Given the description of an element on the screen output the (x, y) to click on. 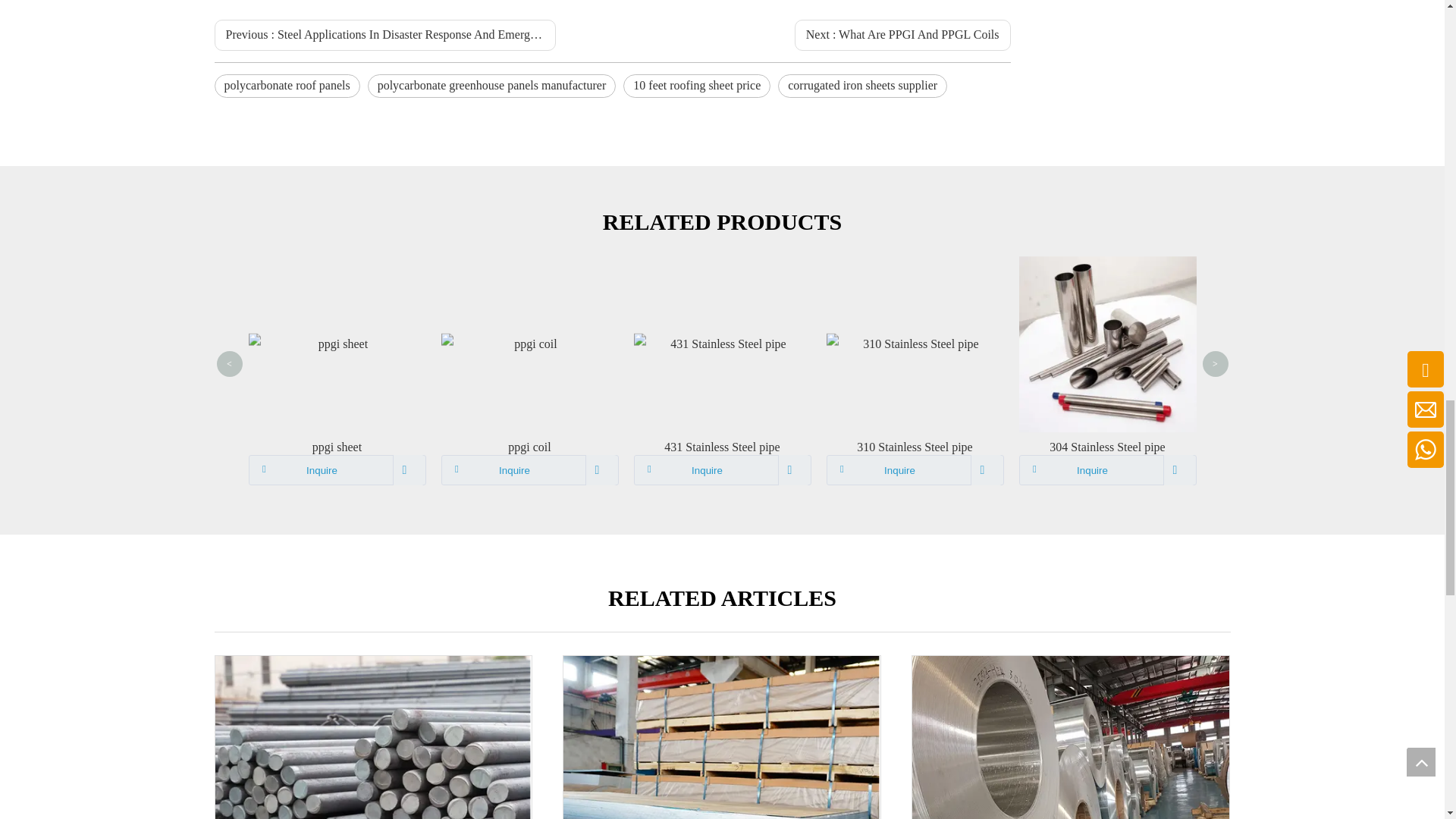
ppgi sheet (337, 447)
10 feet roofing sheet price (696, 85)
304 Stainless Steel pipe  (1107, 447)
polycarbonate greenhouse panels manufacturer (491, 85)
polycarbonate roof panels (286, 85)
ppgi coil (529, 447)
corrugated iron sheets supplier (862, 85)
310 Stainless Steel pipe (915, 447)
431 Stainless Steel pipe (721, 447)
